Given the description of an element on the screen output the (x, y) to click on. 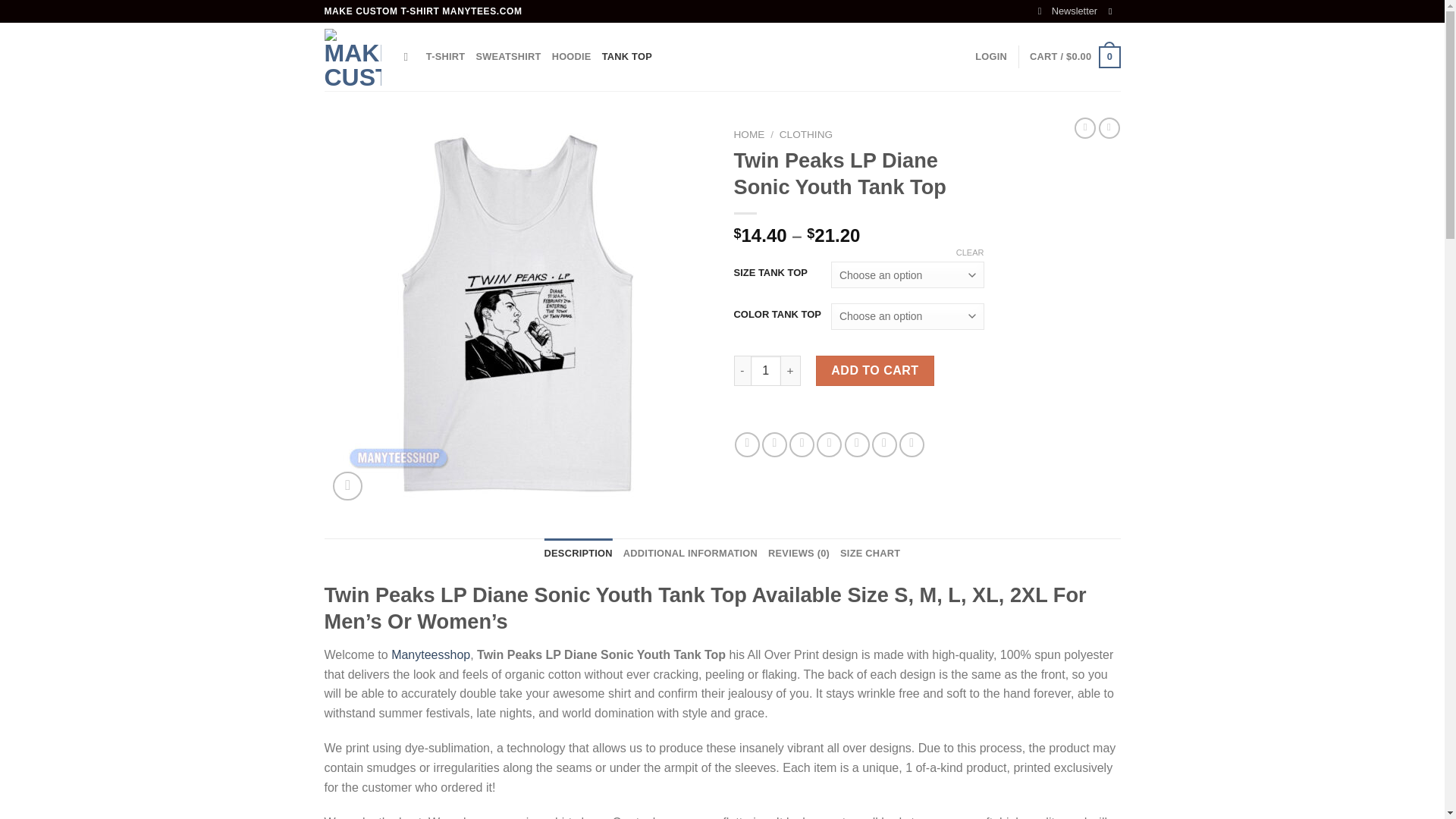
DESCRIPTION (578, 553)
Share on Twitter (774, 444)
TANK TOP (627, 56)
Qty (765, 370)
T-SHIRT (445, 56)
Send us an email (1113, 10)
CLEAR (970, 252)
HOODIE (571, 56)
Email to a Friend (801, 444)
Sign up for Newsletter (1067, 11)
LOGIN (991, 56)
Share on VKontakte (856, 444)
SWEATSHIRT (508, 56)
